Given the description of an element on the screen output the (x, y) to click on. 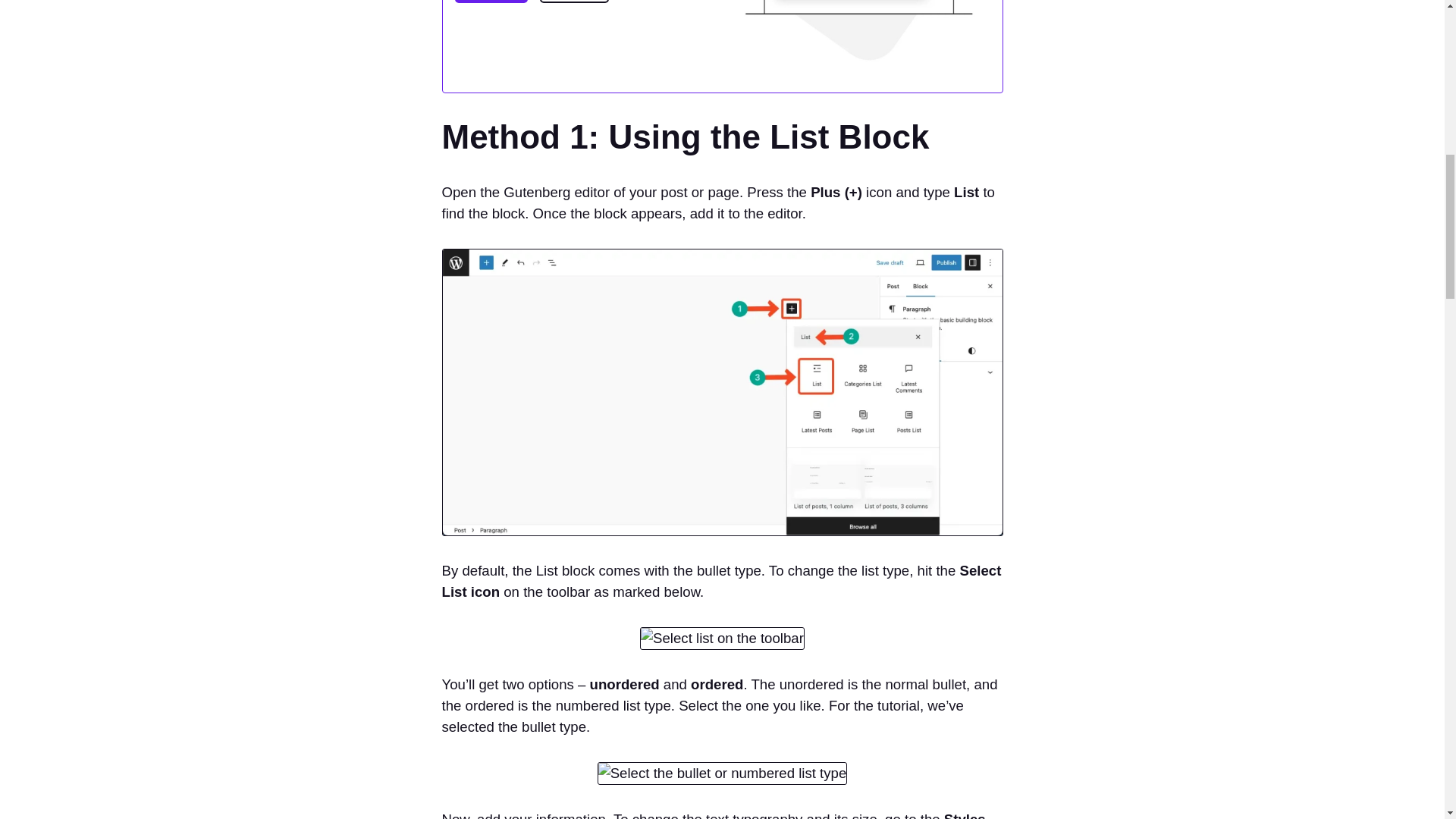
Get Pro (574, 1)
Try Free (490, 1)
